Given the description of an element on the screen output the (x, y) to click on. 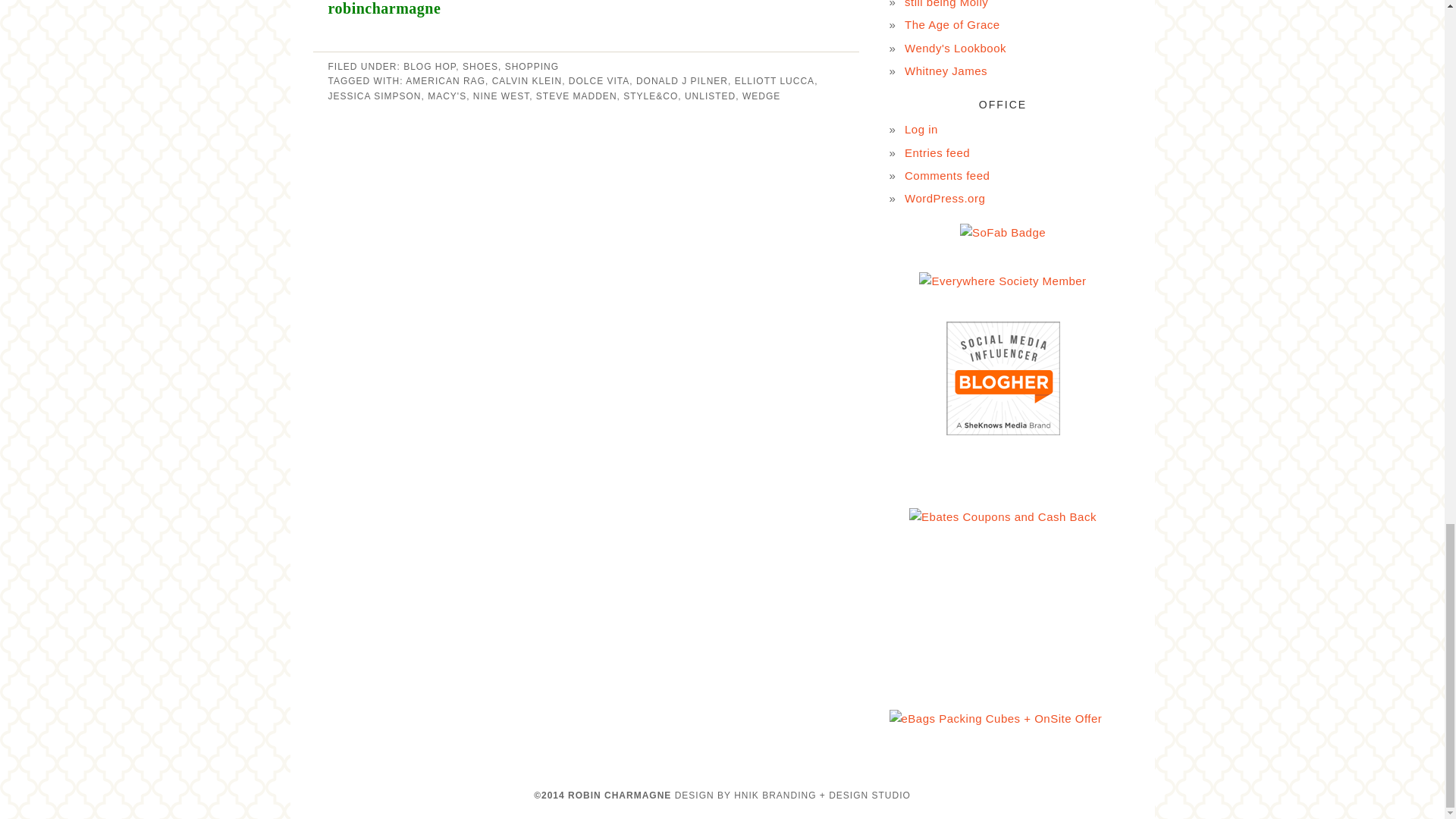
A blog about fashion faith and awesome (946, 4)
SoFab Badge (1002, 232)
